Given the description of an element on the screen output the (x, y) to click on. 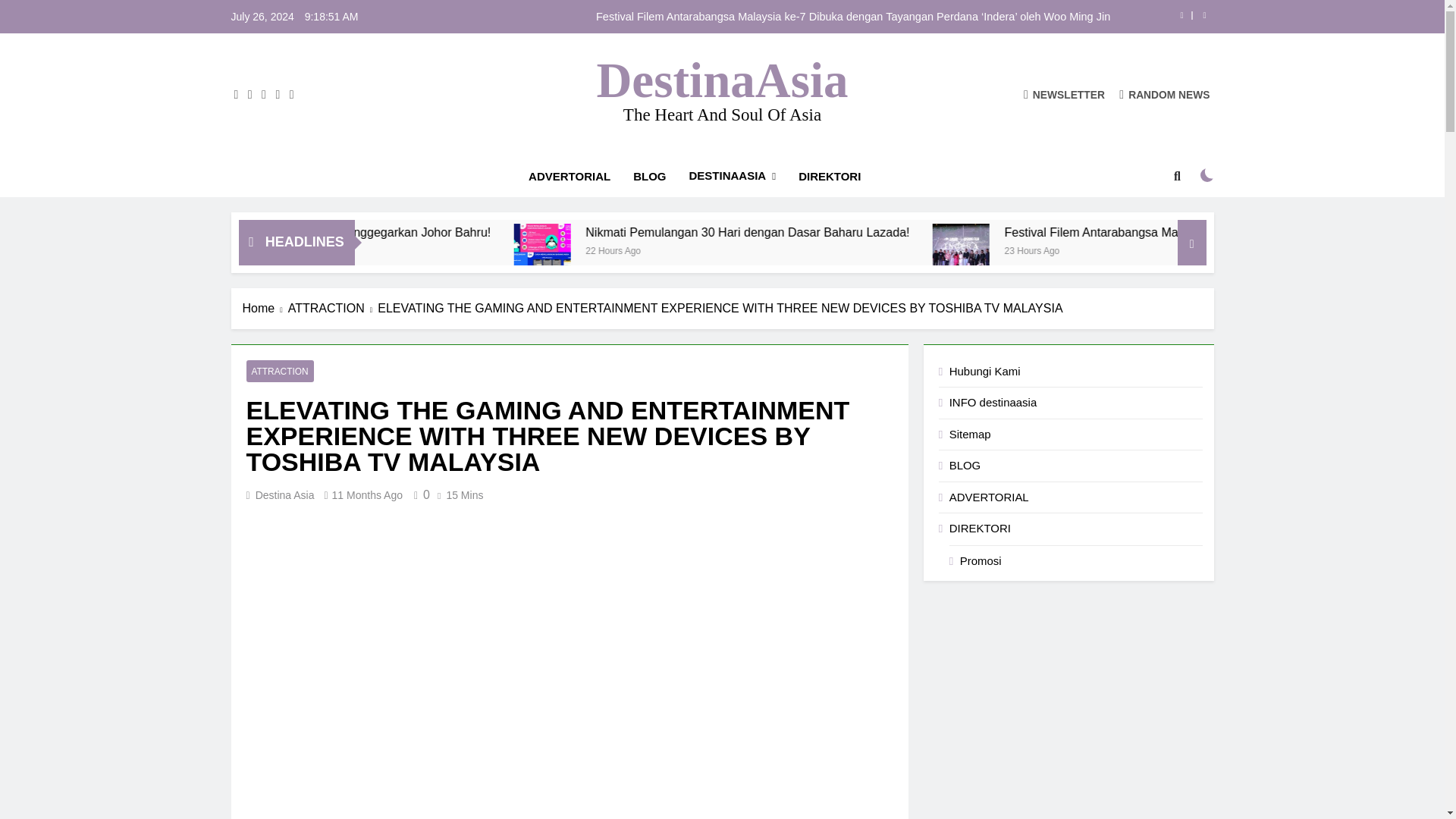
BLOG (649, 176)
Nikmati Pemulangan 30 Hari dengan Dasar Baharu Lazada! (707, 251)
Nikmati Pemulangan 30 Hari dengan Dasar Baharu Lazada! (951, 232)
DESTINAASIA (732, 176)
on (1206, 174)
RANDOM NEWS (1164, 93)
DIREKTORI (829, 176)
Nikmati Pemulangan 30 Hari dengan Dasar Baharu Lazada! (911, 232)
20 Hours Ago (365, 249)
Nikmati Pemulangan 30 Hari dengan Dasar Baharu Lazada! (710, 251)
22 Hours Ago (813, 249)
ADVERTORIAL (568, 176)
NEWSLETTER (1064, 93)
DestinaAsia (721, 80)
